Given the description of an element on the screen output the (x, y) to click on. 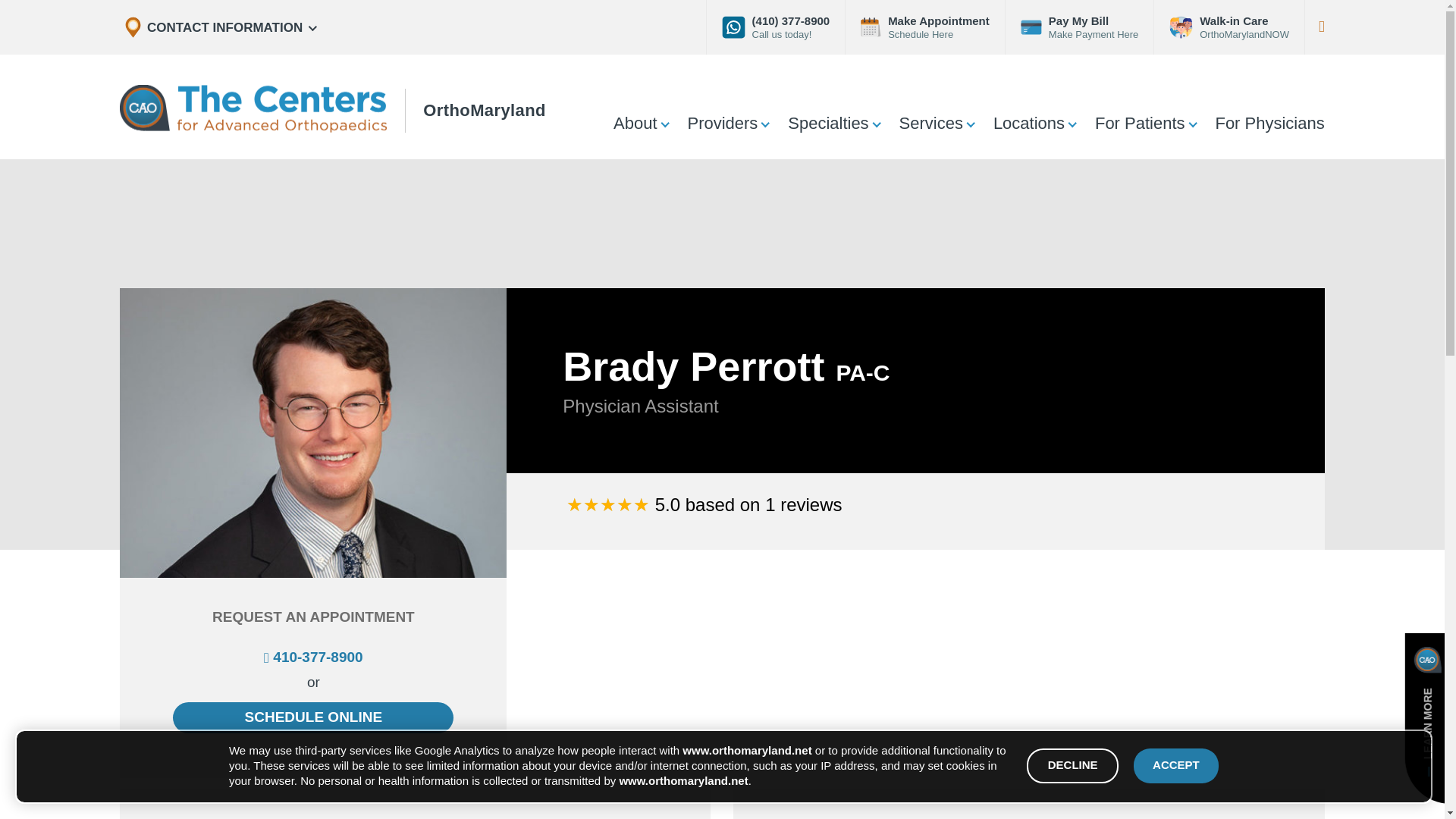
Locations section (1071, 123)
Locations (1029, 123)
Providers (332, 106)
About (722, 123)
Specialties (634, 123)
For Patients (828, 123)
Services (1139, 123)
About section (930, 123)
For Patients section (663, 123)
Specialties section (1192, 123)
Providers section (875, 123)
Services section (764, 123)
